Given the description of an element on the screen output the (x, y) to click on. 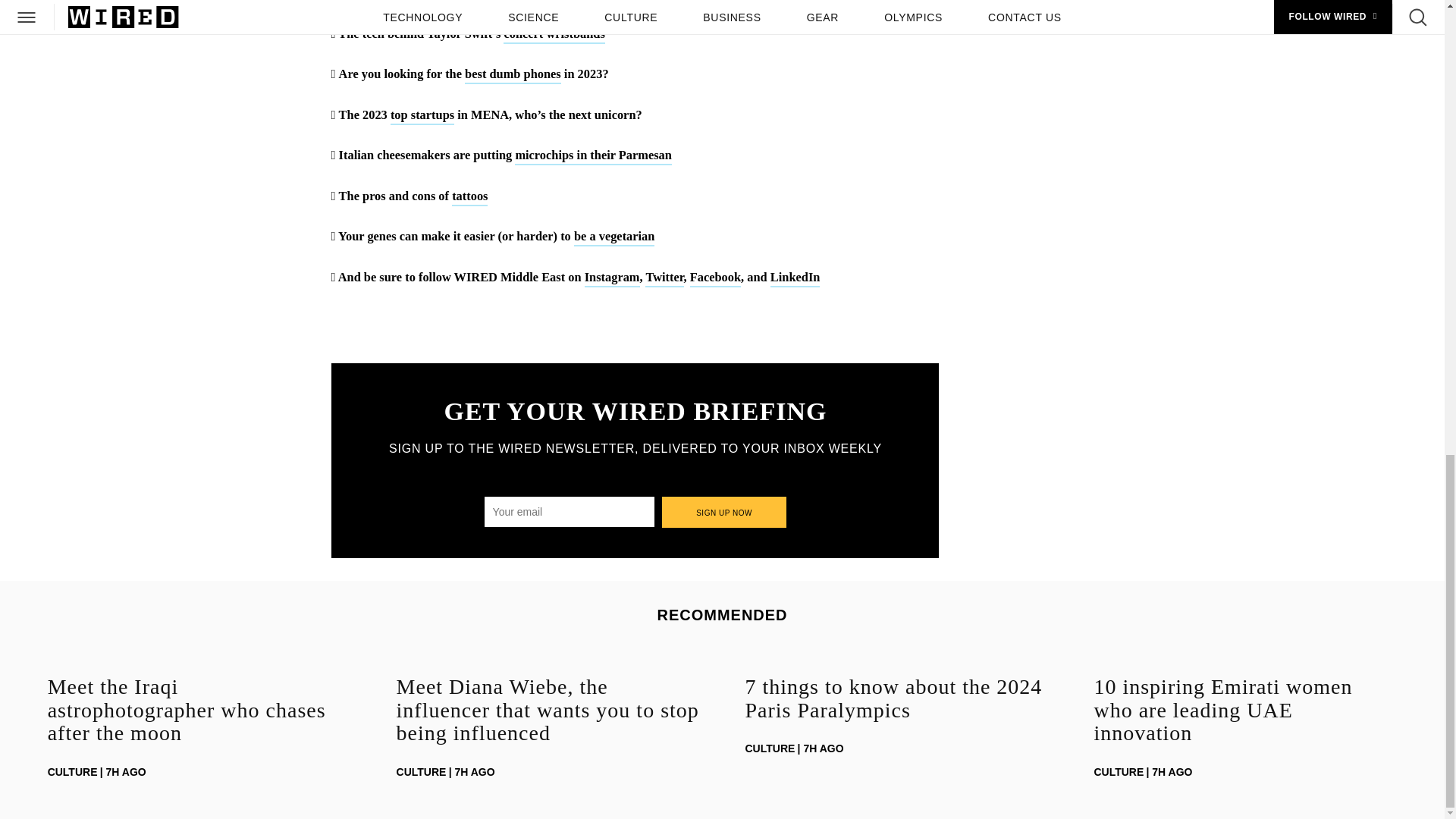
Twitter (663, 278)
Facebook (715, 278)
Sign up now (724, 511)
LinkedIn (795, 278)
Instagram (612, 278)
microchips in their Parmesan (593, 156)
be a vegetarian (614, 237)
best dumb phones (512, 75)
tattoos (469, 197)
concert wristbands (553, 35)
